Given the description of an element on the screen output the (x, y) to click on. 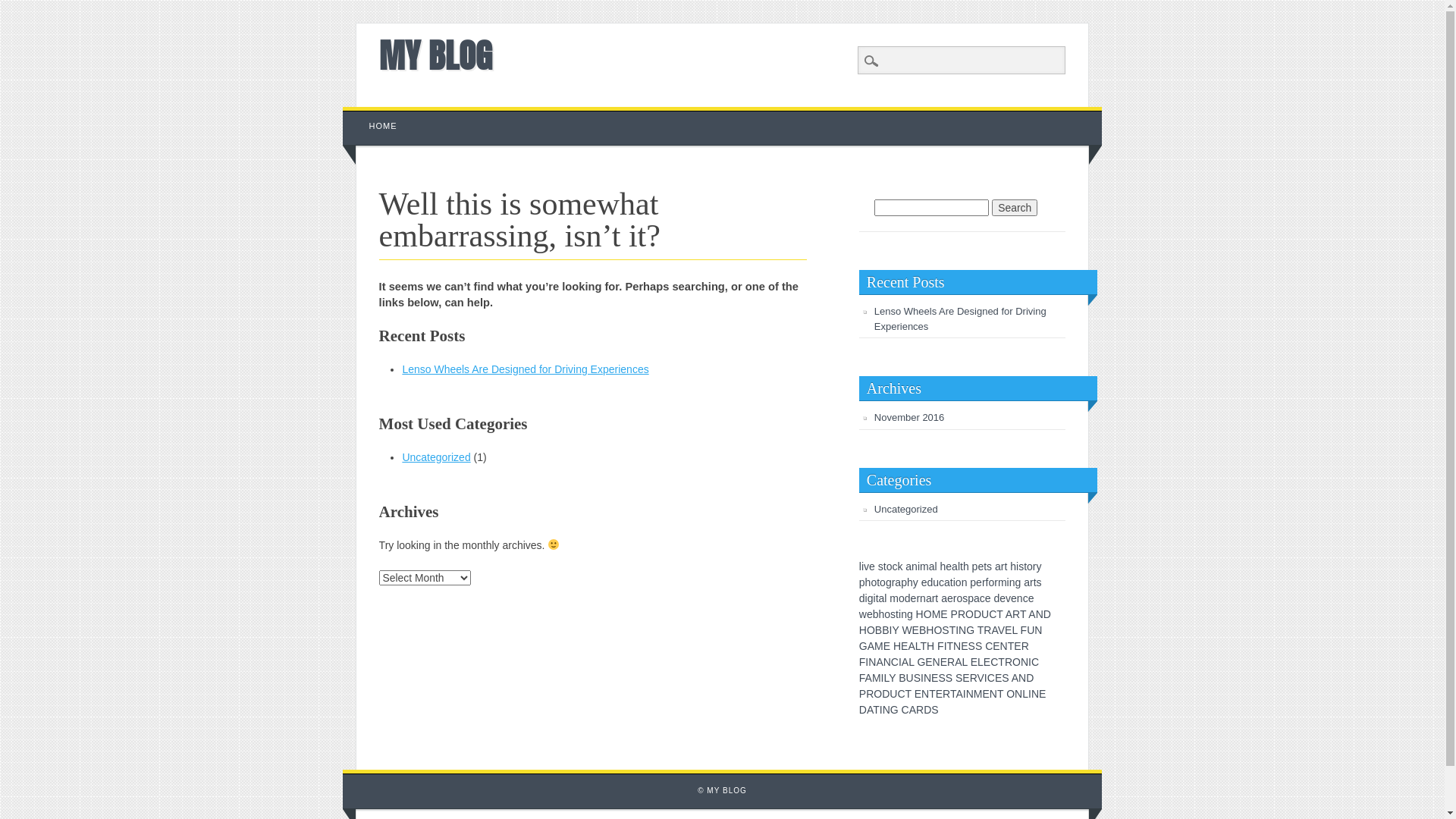
O Element type: text (1016, 661)
r Element type: text (1034, 566)
o Element type: text (958, 582)
E Element type: text (938, 693)
N Element type: text (1018, 693)
M Element type: text (936, 614)
I Element type: text (1029, 661)
E Element type: text (928, 661)
c Element type: text (894, 566)
g Element type: text (909, 614)
i Element type: text (918, 566)
p Element type: text (970, 598)
a Element type: text (908, 566)
o Element type: text (887, 614)
H Element type: text (919, 614)
C Element type: text (992, 614)
N Element type: text (993, 693)
M Element type: text (977, 693)
R Element type: text (946, 693)
I Element type: text (945, 646)
I Element type: text (899, 661)
p Element type: text (972, 582)
E Element type: text (965, 677)
L Element type: text (910, 661)
S Element type: text (944, 630)
I Element type: text (985, 677)
r Element type: text (995, 582)
G Element type: text (894, 709)
A Element type: text (870, 646)
R Element type: text (973, 677)
N Element type: text (936, 661)
Uncategorized Element type: text (906, 508)
E Element type: text (943, 614)
I Element type: text (921, 677)
e Element type: text (988, 598)
t Element type: text (896, 614)
O Element type: text (927, 614)
e Element type: text (978, 582)
Uncategorized Element type: text (435, 457)
n Element type: text (914, 566)
D Element type: text (927, 709)
S Element type: text (916, 677)
R Element type: text (1015, 614)
T Element type: text (980, 630)
s Element type: text (988, 566)
a Element type: text (997, 566)
T Element type: text (952, 630)
N Element type: text (1034, 693)
o Element type: text (882, 582)
E Element type: text (986, 661)
E Element type: text (995, 646)
n Element type: text (903, 614)
F Element type: text (862, 661)
T Element type: text (1000, 693)
e Element type: text (869, 614)
B Element type: text (878, 630)
N Element type: text (887, 661)
N Element type: text (886, 709)
i Element type: text (899, 614)
N Element type: text (1024, 661)
p Element type: text (903, 582)
I Element type: text (1029, 693)
g Element type: text (888, 582)
I Element type: text (882, 677)
V Element type: text (980, 677)
d Element type: text (862, 598)
N Element type: text (1037, 630)
t Element type: text (961, 566)
a Element type: text (976, 598)
n Element type: text (1019, 598)
Search Element type: text (22, 8)
p Element type: text (862, 582)
A Element type: text (904, 661)
H Element type: text (929, 630)
d Element type: text (929, 582)
M Element type: text (878, 646)
E Element type: text (943, 661)
s Element type: text (880, 566)
B Element type: text (922, 630)
O Element type: text (1010, 693)
E Element type: text (997, 677)
P Element type: text (953, 614)
E Element type: text (973, 661)
t Element type: text (877, 582)
a Element type: text (1026, 582)
d Element type: text (996, 598)
a Element type: text (897, 582)
y Element type: text (915, 582)
e Element type: text (980, 566)
S Element type: text (978, 646)
R Element type: text (1008, 661)
E Element type: text (917, 693)
C Element type: text (990, 677)
U Element type: text (909, 677)
t Element type: text (951, 582)
l Element type: text (885, 598)
November 2016 Element type: text (909, 417)
c Element type: text (982, 598)
A Element type: text (912, 709)
P Element type: text (862, 693)
t Element type: text (1034, 582)
E Element type: text (934, 677)
C Element type: text (993, 661)
t Element type: text (1024, 566)
O Element type: text (937, 630)
c Element type: text (941, 582)
L Element type: text (1025, 693)
C Element type: text (988, 646)
Y Element type: text (894, 630)
s Element type: text (964, 598)
l Element type: text (860, 566)
m Element type: text (923, 566)
L Element type: text (964, 661)
E Element type: text (886, 646)
D Element type: text (1029, 677)
I Element type: text (866, 661)
F Element type: text (1023, 630)
HOME Element type: text (383, 125)
E Element type: text (963, 646)
r Element type: text (983, 582)
C Element type: text (900, 693)
R Element type: text (1025, 646)
R Element type: text (961, 614)
T Element type: text (953, 693)
i Element type: text (874, 598)
S Element type: text (958, 677)
o Element type: text (889, 566)
h Element type: text (881, 614)
h Element type: text (943, 566)
E Element type: text (915, 630)
a Element type: text (944, 598)
E Element type: text (1016, 646)
O Element type: text (877, 693)
e Element type: text (950, 598)
I Element type: text (880, 709)
s Element type: text (1020, 566)
f Element type: text (986, 582)
e Element type: text (872, 566)
r Element type: text (893, 582)
e Element type: text (1002, 598)
C Element type: text (894, 661)
h Element type: text (966, 566)
c Element type: text (1025, 598)
U Element type: text (1030, 630)
A Element type: text (869, 709)
m Element type: text (893, 598)
M Element type: text (876, 677)
T Element type: text (908, 693)
d Element type: text (907, 598)
N Element type: text (927, 677)
U Element type: text (984, 614)
n Element type: text (922, 598)
n Element type: text (1012, 582)
b Element type: text (875, 614)
e Element type: text (948, 566)
N Element type: text (956, 646)
N Element type: text (1003, 646)
D Element type: text (1047, 614)
A Element type: text (1014, 677)
F Element type: text (940, 646)
H Element type: text (930, 646)
v Element type: text (1007, 598)
A Element type: text (994, 630)
MY BLOG Element type: text (435, 55)
L Element type: text (980, 661)
Skip to content Element type: text (377, 114)
L Element type: text (885, 677)
A Element type: text (868, 677)
Lenso Wheels Are Designed for Driving Experiences Element type: text (524, 369)
a Element type: text (954, 566)
h Element type: text (1013, 566)
o Element type: text (991, 582)
W Element type: text (906, 630)
T Element type: text (875, 709)
Y Element type: text (891, 677)
e Element type: text (913, 598)
a Element type: text (947, 582)
g Element type: text (870, 598)
v Element type: text (866, 566)
R Element type: text (919, 709)
y Element type: text (1038, 566)
r Element type: text (955, 598)
S Element type: text (934, 709)
u Element type: text (935, 582)
o Element type: text (901, 598)
T Element type: text (950, 646)
i Element type: text (862, 566)
t Element type: text (1005, 566)
o Element type: text (1029, 566)
i Element type: text (1008, 582)
L Element type: text (1013, 630)
G Element type: text (920, 661)
C Element type: text (905, 709)
N Element type: text (924, 693)
a Element type: text (881, 598)
O Element type: text (969, 614)
n Element type: text (964, 582)
R Element type: text (987, 630)
k Element type: text (899, 566)
p Element type: text (975, 566)
E Element type: text (985, 693)
G Element type: text (863, 646)
E Element type: text (903, 646)
t Element type: text (884, 566)
a Element type: text (931, 566)
T Element type: text (1010, 646)
e Element type: text (924, 582)
I Element type: text (964, 693)
t Element type: text (936, 598)
T Element type: text (1022, 614)
h Element type: text (868, 582)
I Element type: text (956, 630)
B Element type: text (901, 677)
N Element type: text (1022, 677)
S Element type: text (948, 677)
D Element type: text (977, 614)
A Element type: text (958, 693)
O Element type: text (870, 630)
I Element type: text (889, 630)
S Element type: text (1004, 677)
i Element type: text (1017, 566)
t Element type: text (876, 598)
e Element type: text (1031, 598)
T Element type: text (931, 693)
N Element type: text (969, 693)
V Element type: text (1000, 630)
A Element type: text (1031, 614)
T Element type: text (1000, 661)
Lenso Wheels Are Designed for Driving Experiences Element type: text (960, 318)
o Element type: text (873, 582)
N Element type: text (1039, 614)
C Element type: text (1034, 661)
D Element type: text (885, 693)
N Element type: text (871, 661)
i Element type: text (954, 582)
A Element type: text (1008, 614)
R Element type: text (869, 693)
i Element type: text (866, 598)
G Element type: text (970, 630)
L Element type: text (917, 646)
r Element type: text (1031, 582)
e Element type: text (1013, 598)
r Element type: text (917, 598)
A Element type: text (878, 661)
T Element type: text (999, 614)
E Element type: text (1041, 693)
a Element type: text (928, 598)
w Element type: text (862, 614)
E Element type: text (1007, 630)
h Element type: text (909, 582)
m Element type: text (1002, 582)
A Element type: text (957, 661)
t Element type: text (984, 566)
s Element type: text (1038, 582)
l Element type: text (958, 566)
r Element type: text (933, 598)
S Element type: text (971, 646)
H Element type: text (862, 630)
S Element type: text (941, 677)
o Element type: text (959, 598)
U Element type: text (893, 693)
N Element type: text (962, 630)
D Element type: text (862, 709)
l Element type: text (935, 566)
A Element type: text (910, 646)
r Element type: text (1002, 566)
F Element type: text (862, 677)
s Element type: text (892, 614)
g Element type: text (1018, 582)
R Element type: text (950, 661)
H Element type: text (896, 646)
T Element type: text (923, 646)
B Element type: text (884, 630)
Search Element type: text (1014, 207)
